Given the description of an element on the screen output the (x, y) to click on. 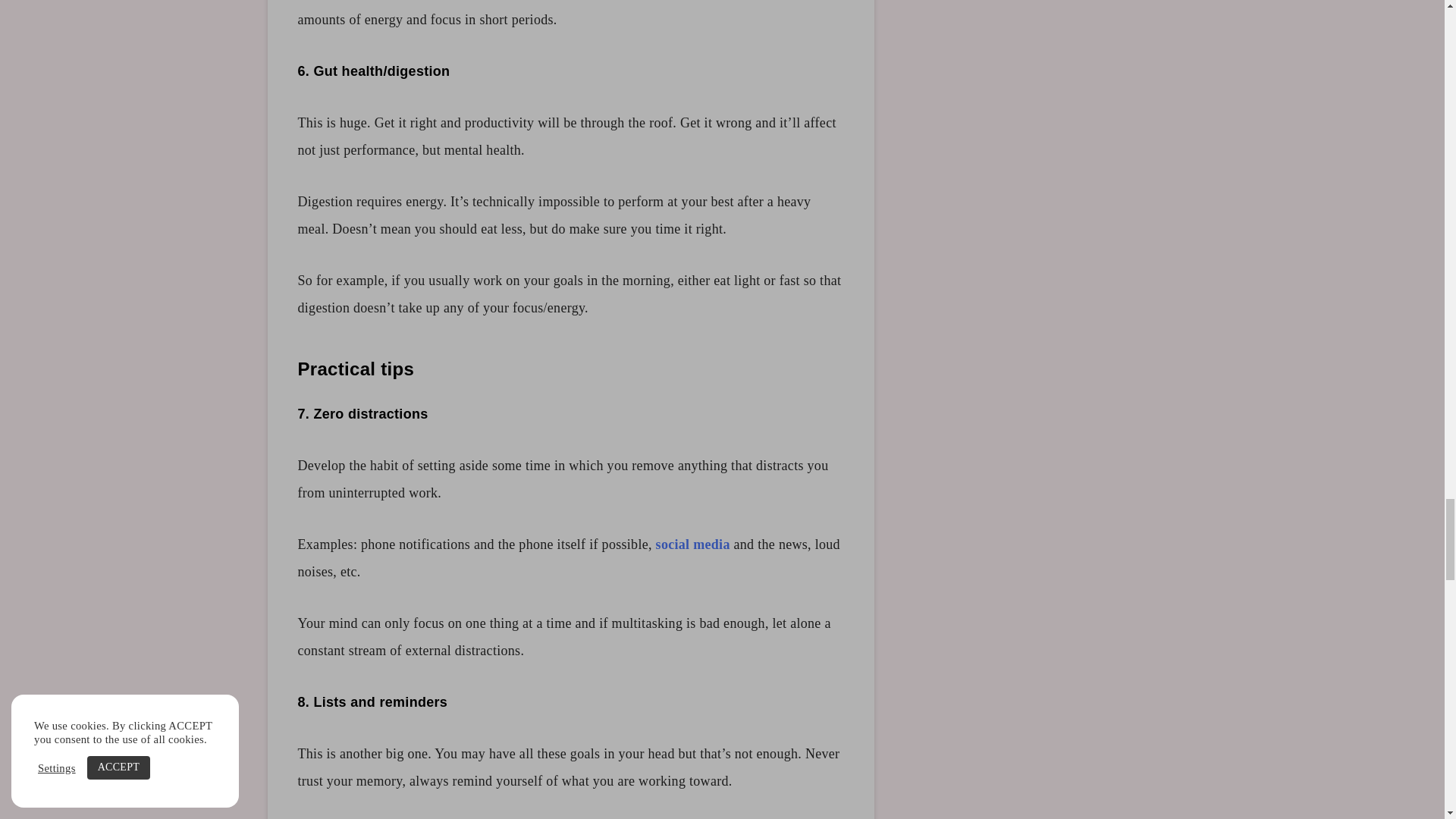
social media (693, 544)
